Given the description of an element on the screen output the (x, y) to click on. 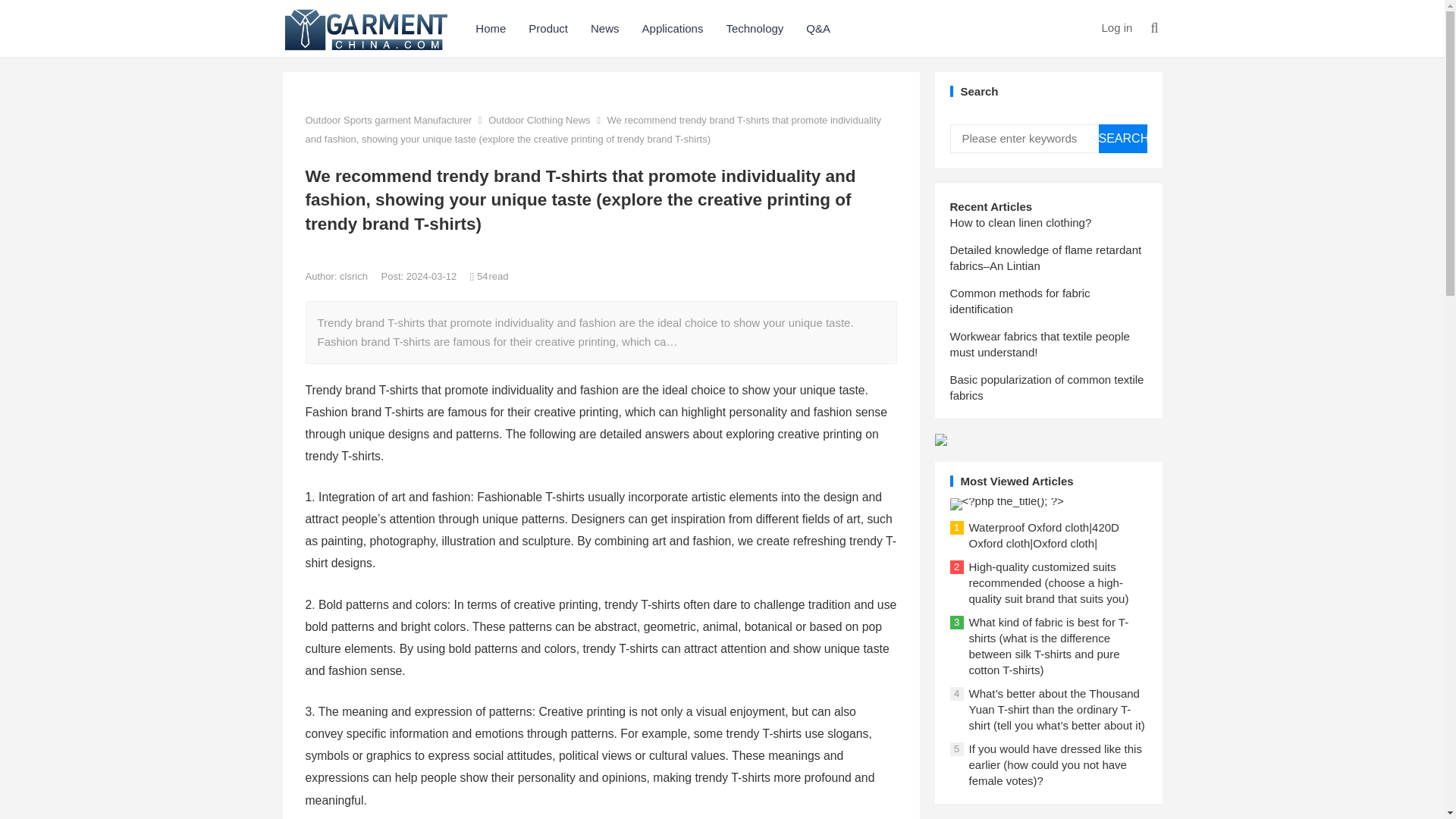
SEARCH (1122, 138)
News (604, 28)
Home (490, 28)
Common methods for fabric identification (1019, 300)
Log in (1116, 27)
Outdoor Clothing News (538, 119)
Product (547, 28)
Outdoor Sports garment Manufacturer (387, 119)
Applications (672, 28)
Technology (754, 28)
Workwear fabrics that textile people must understand! (1039, 344)
Log in (1116, 27)
How to clean linen clothing? (1019, 222)
clsrich (354, 275)
